Given the description of an element on the screen output the (x, y) to click on. 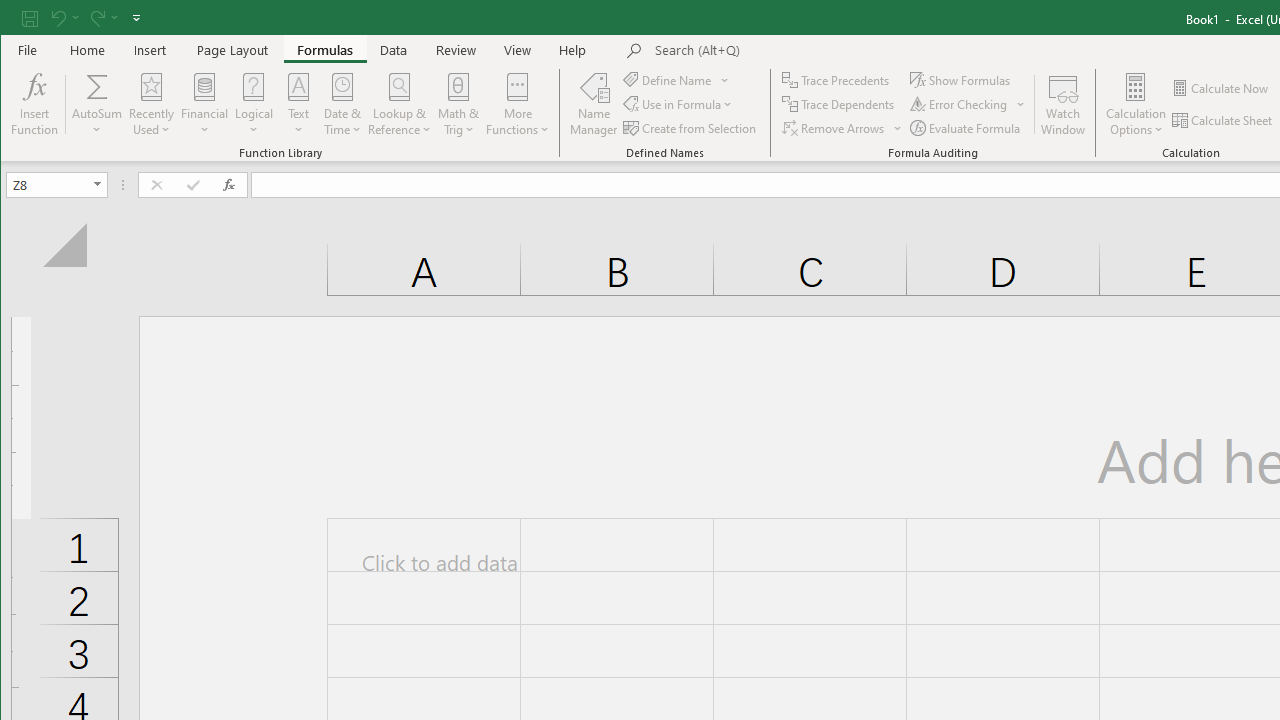
Math & Trig (459, 104)
Text (298, 104)
AutoSum (97, 104)
More Functions (517, 104)
Sum (97, 86)
Trace Precedents (837, 80)
Date & Time (342, 104)
Calculate Now (1221, 88)
Calculate Sheet (1223, 119)
Error Checking... (968, 103)
